Given the description of an element on the screen output the (x, y) to click on. 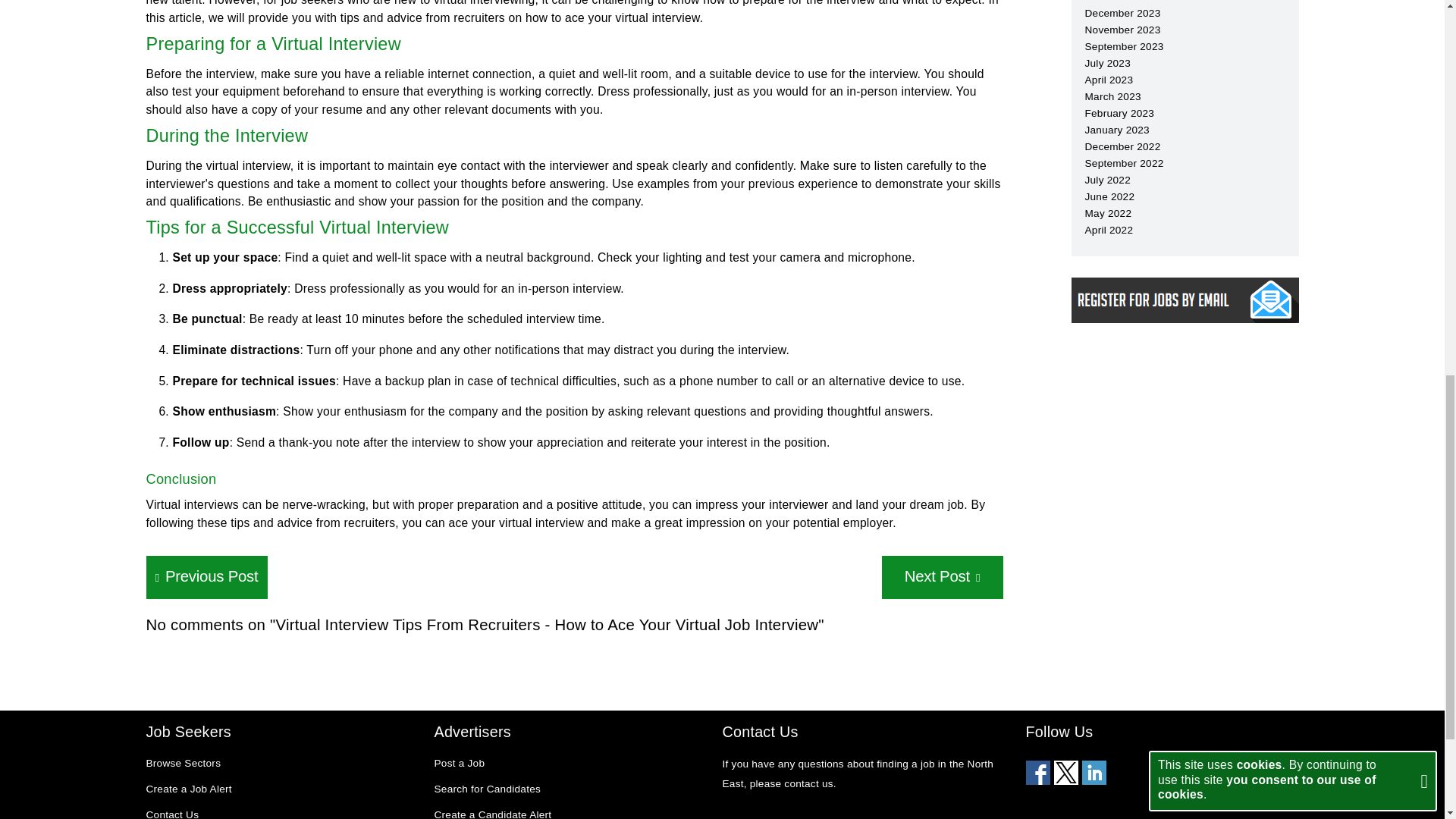
Previous Post (205, 577)
December 2023 (1122, 12)
Next Post (941, 577)
November 2023 (1122, 30)
